Given the description of an element on the screen output the (x, y) to click on. 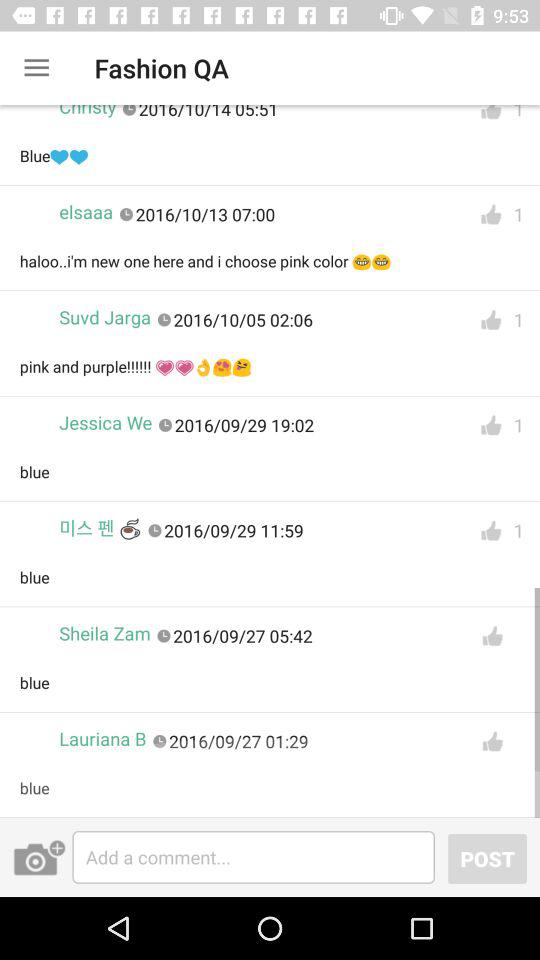
open the sheila zam item (104, 633)
